Given the description of an element on the screen output the (x, y) to click on. 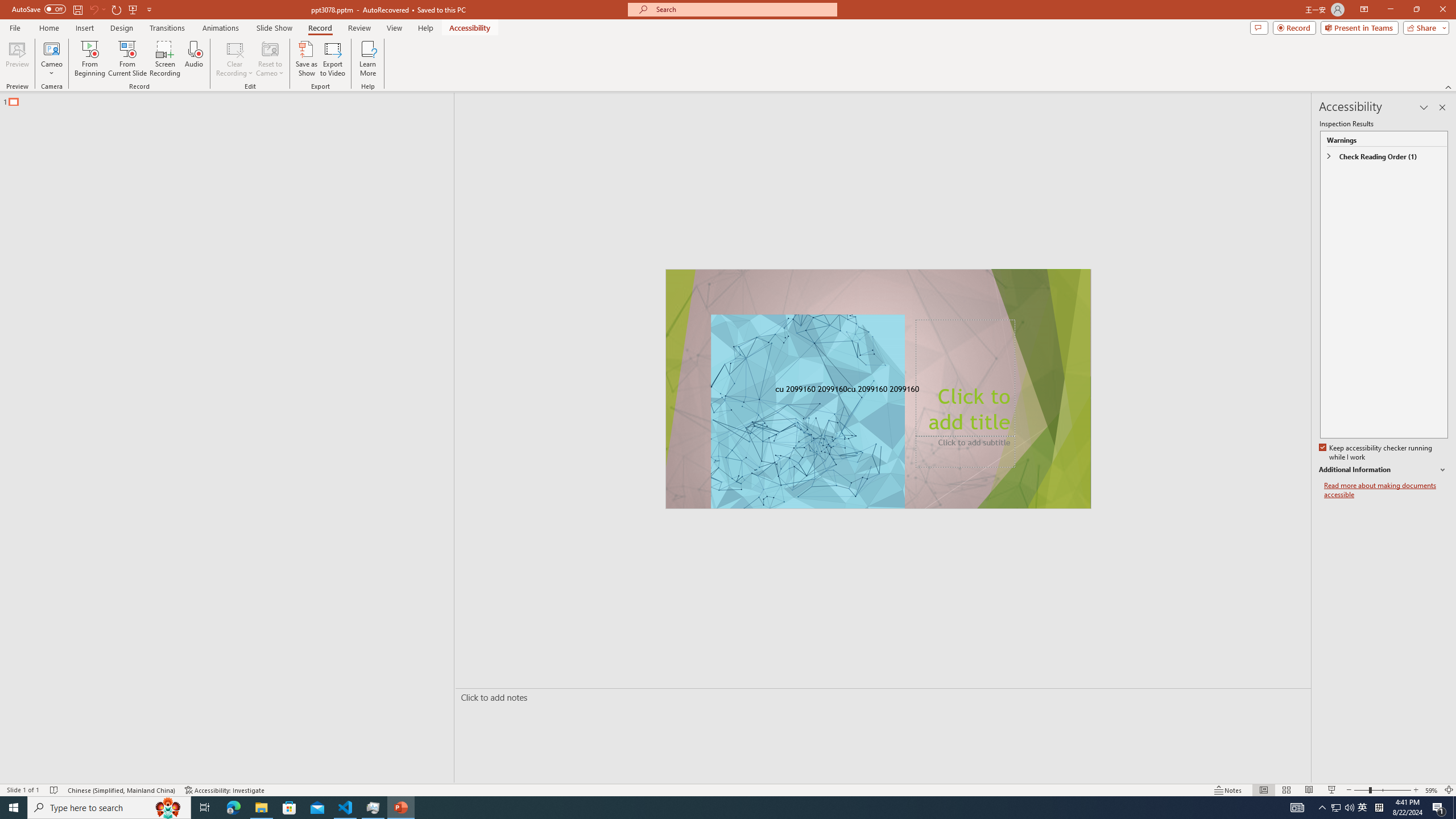
Save as Show (306, 58)
Title TextBox (964, 377)
From Current Slide... (127, 58)
From Beginning... (89, 58)
Read more about making documents accessible (1385, 489)
